Given the description of an element on the screen output the (x, y) to click on. 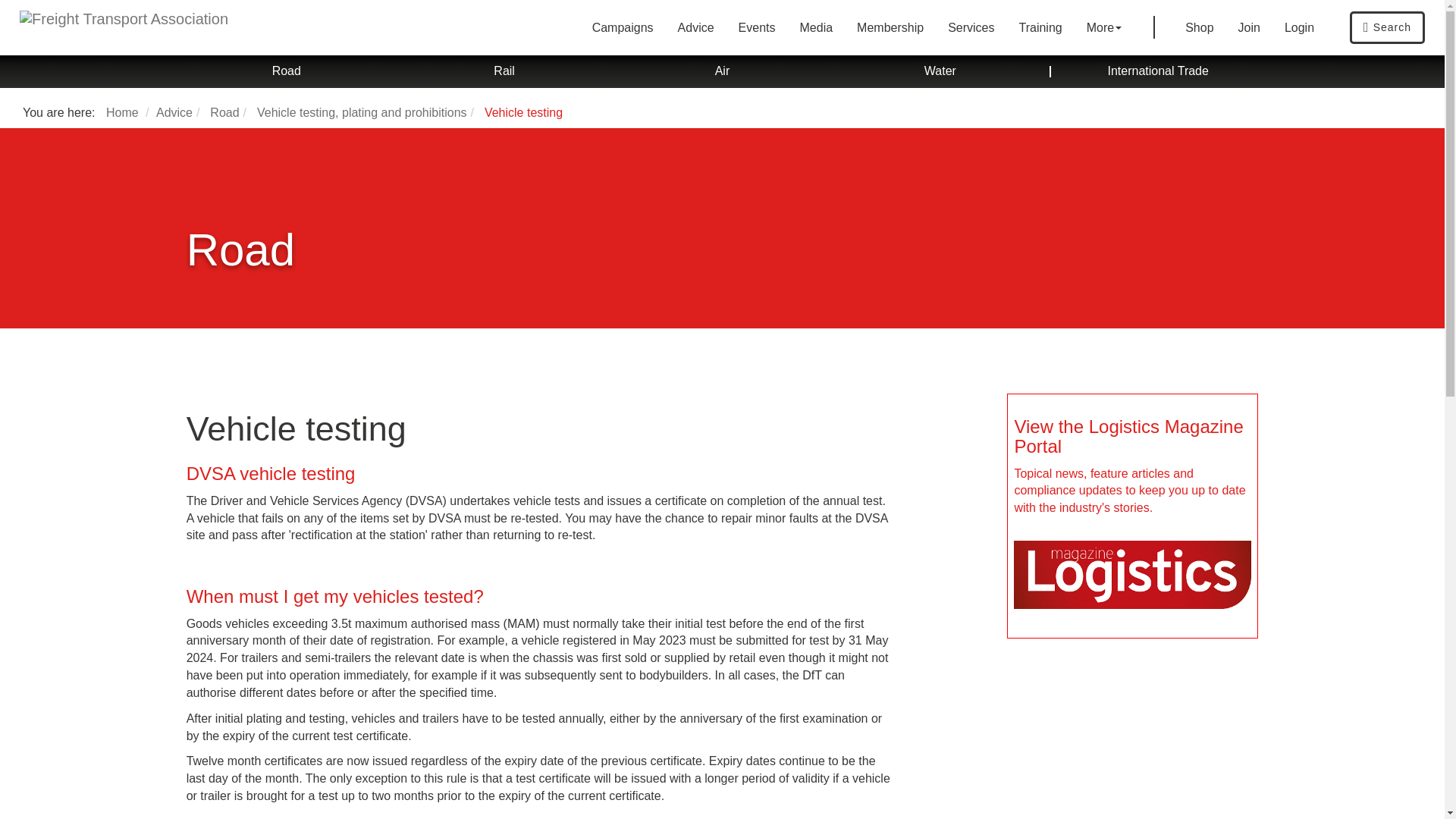
Advice (695, 26)
Vehicle testing, plating and prohibitions (362, 112)
Media (816, 26)
Air (721, 71)
Vehicle testing, plating and prohibitions (362, 112)
Login (1299, 26)
Join (1248, 26)
Search (1387, 27)
Events (756, 26)
Advice (173, 112)
Road (285, 71)
Membership (890, 26)
Advice (695, 26)
Membership (890, 26)
